Given the description of an element on the screen output the (x, y) to click on. 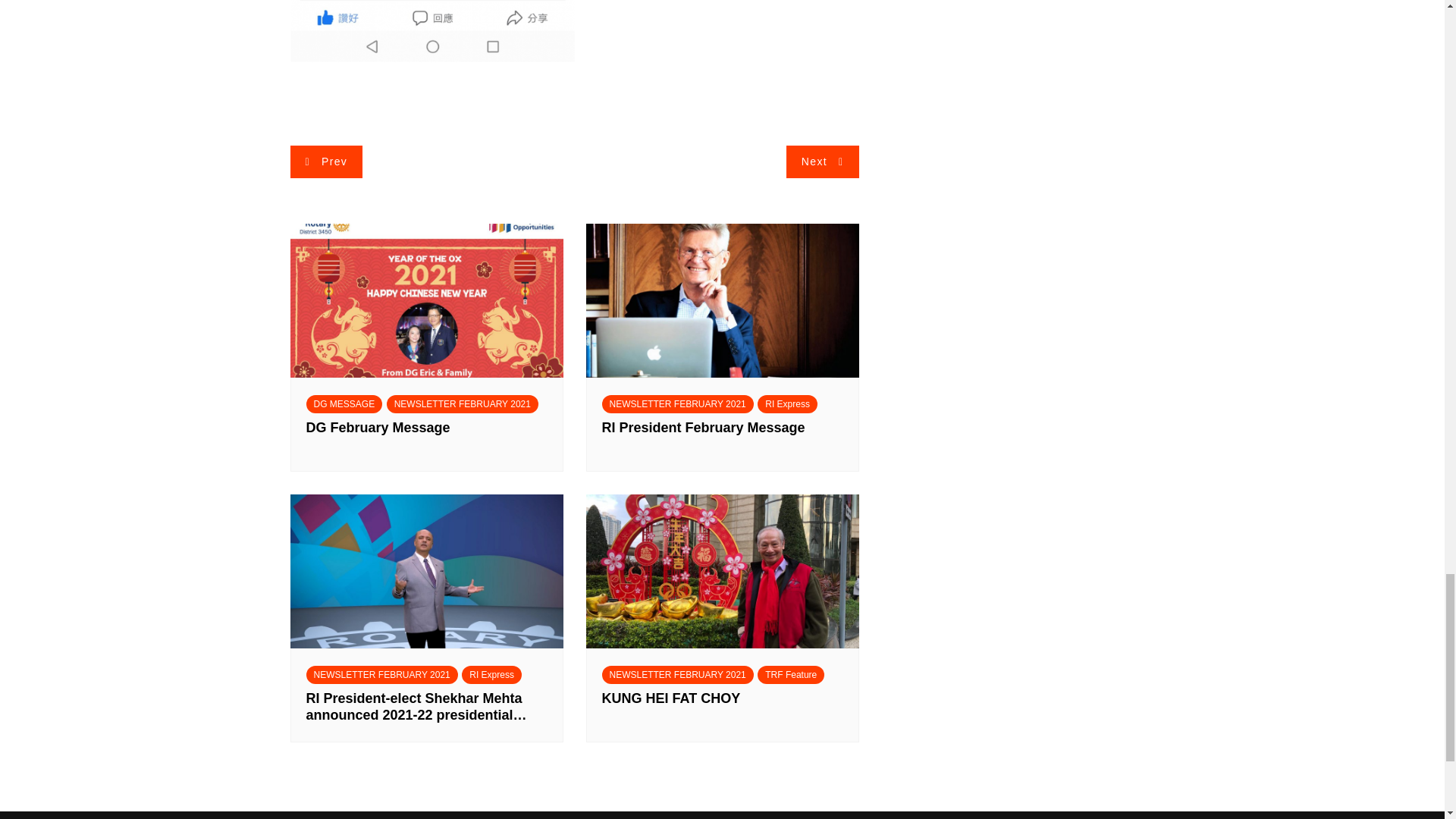
DG February Message (426, 436)
Next (822, 161)
RI Express (786, 403)
DG MESSAGE (343, 403)
NEWSLETTER FEBRUARY 2021 (678, 403)
RI Express (491, 674)
NEWSLETTER FEBRUARY 2021 (462, 403)
RI President February Message (722, 436)
KUNG HEI FAT CHOY (722, 706)
TRF Feature (790, 674)
Prev (325, 161)
NEWSLETTER FEBRUARY 2021 (678, 674)
NEWSLETTER FEBRUARY 2021 (381, 674)
